Given the description of an element on the screen output the (x, y) to click on. 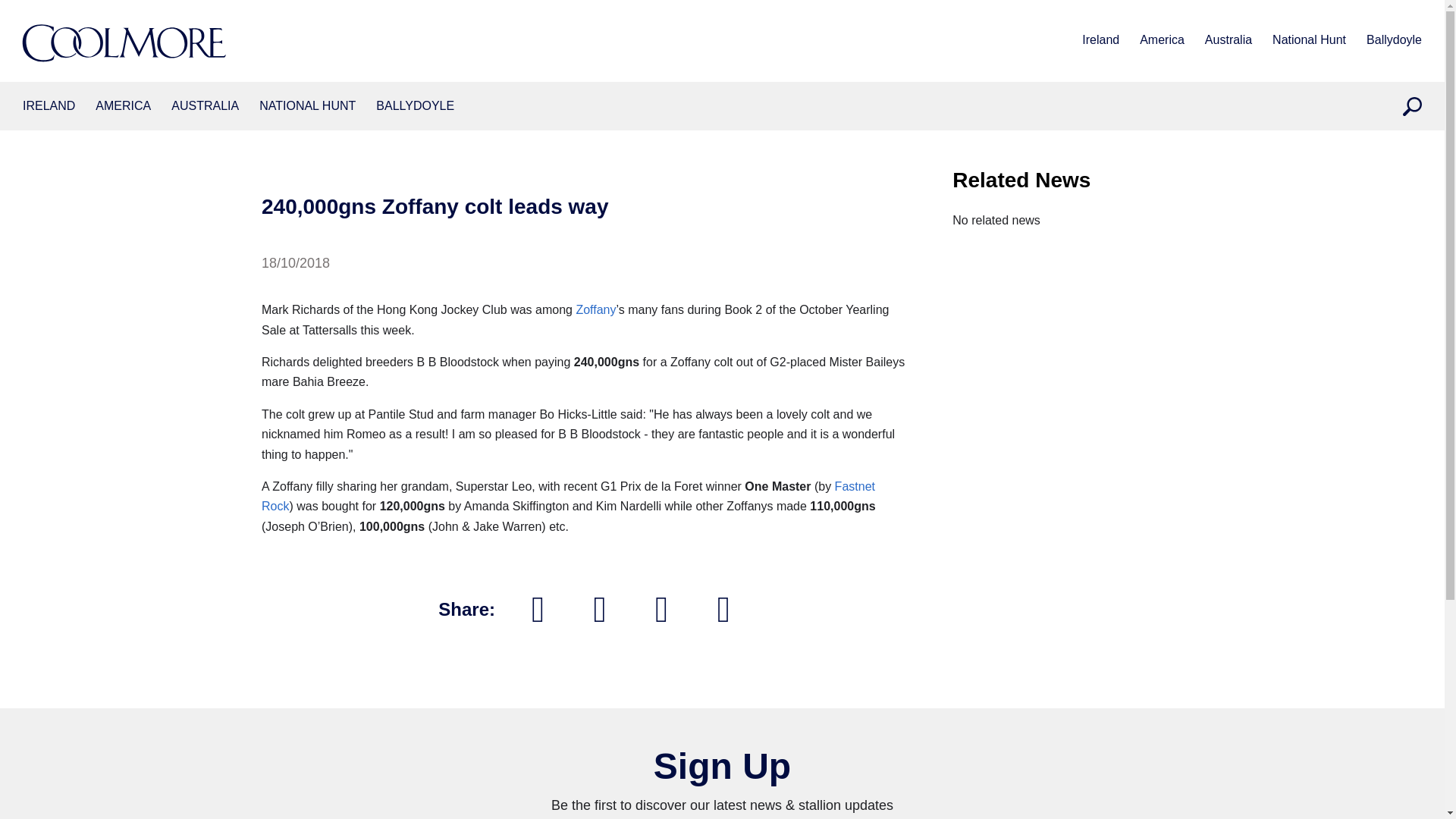
AMERICA (123, 106)
icon-magCreated with Sketch. (1412, 106)
IRELAND (49, 106)
Fastnet Rock (568, 495)
Ballydoyle (1394, 40)
Ireland (1100, 40)
America (1162, 40)
AUSTRALIA (204, 106)
Ireland (49, 106)
Australia (1228, 40)
America (123, 106)
BALLYDOYLE (414, 106)
Australia (204, 106)
NATIONAL HUNT (307, 106)
Zoffany (595, 309)
